Given the description of an element on the screen output the (x, y) to click on. 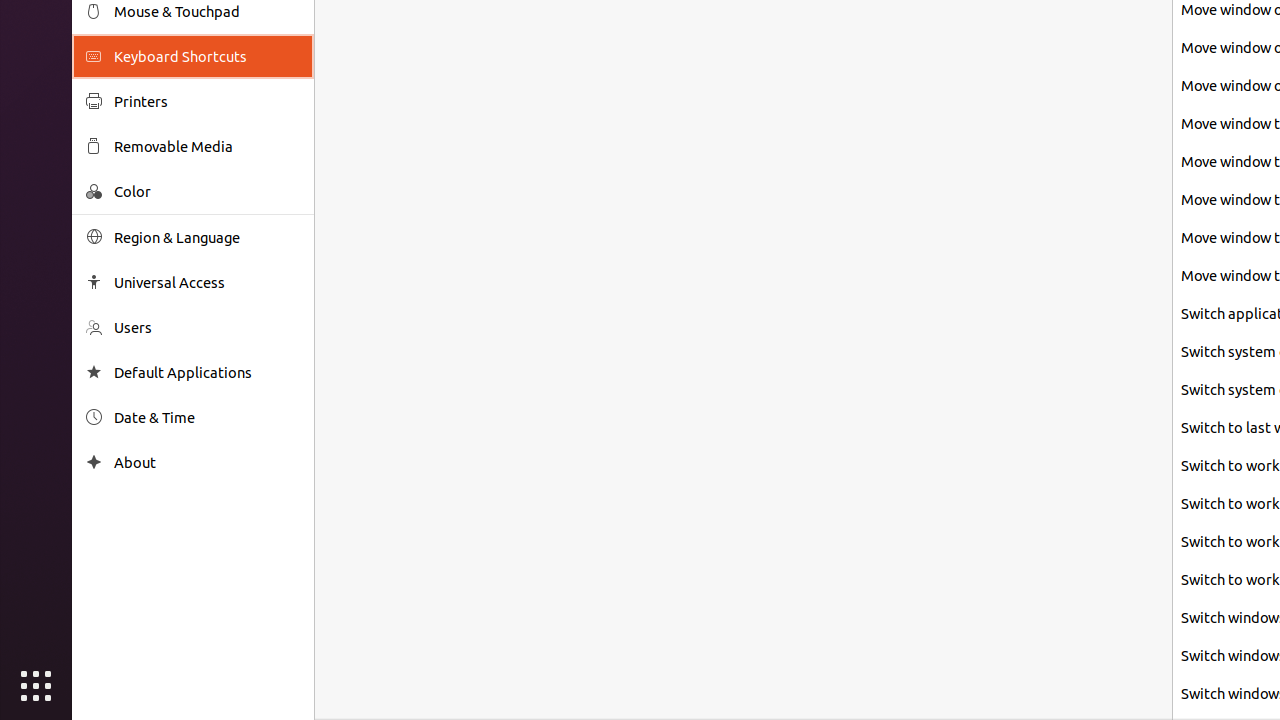
Users Element type: label (207, 327)
Color Element type: label (207, 191)
About Element type: icon (94, 462)
Region & Language Element type: label (207, 237)
Mouse & Touchpad Element type: label (207, 11)
